Given the description of an element on the screen output the (x, y) to click on. 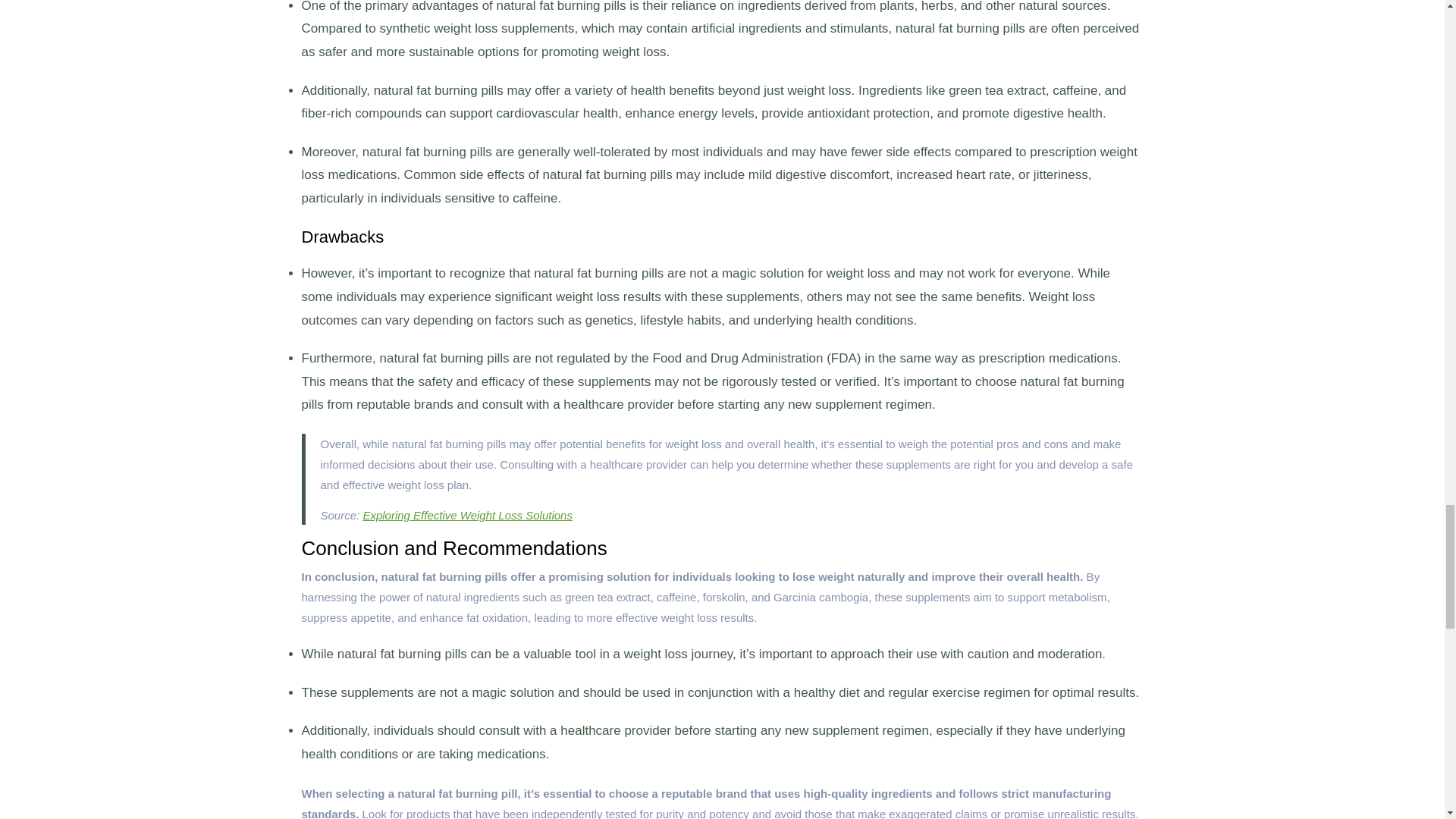
Exploring Effective Weight Loss Solutions (467, 514)
